Given the description of an element on the screen output the (x, y) to click on. 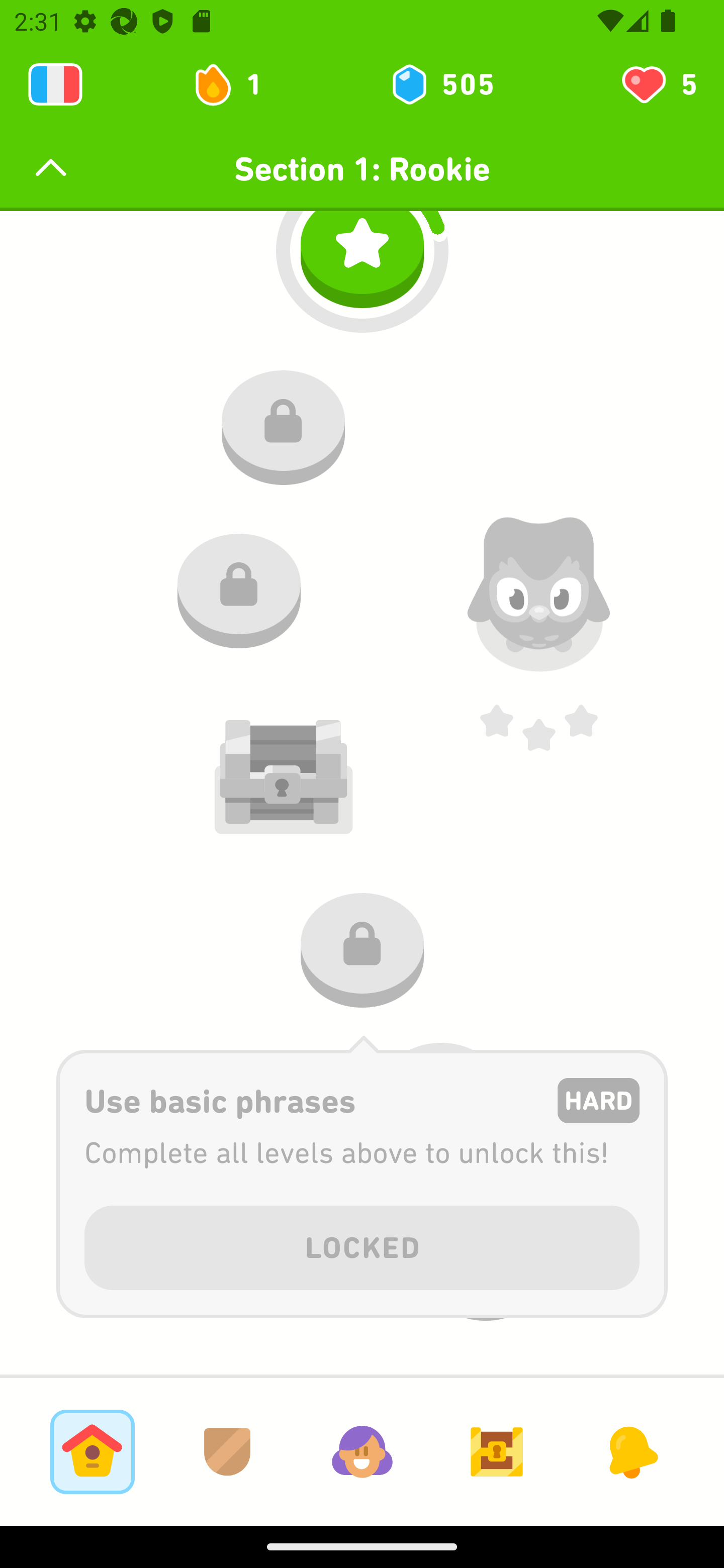
Learning 2131888976 (55, 84)
1 day streak 1 (236, 84)
505 (441, 84)
You have 5 hearts left 5 (657, 84)
Section 1: Rookie (362, 169)
LOCKED (361, 1243)
Learn Tab (91, 1451)
Leagues Tab (227, 1451)
Profile Tab (361, 1451)
Goals Tab (496, 1451)
News Tab (631, 1451)
